Given the description of an element on the screen output the (x, y) to click on. 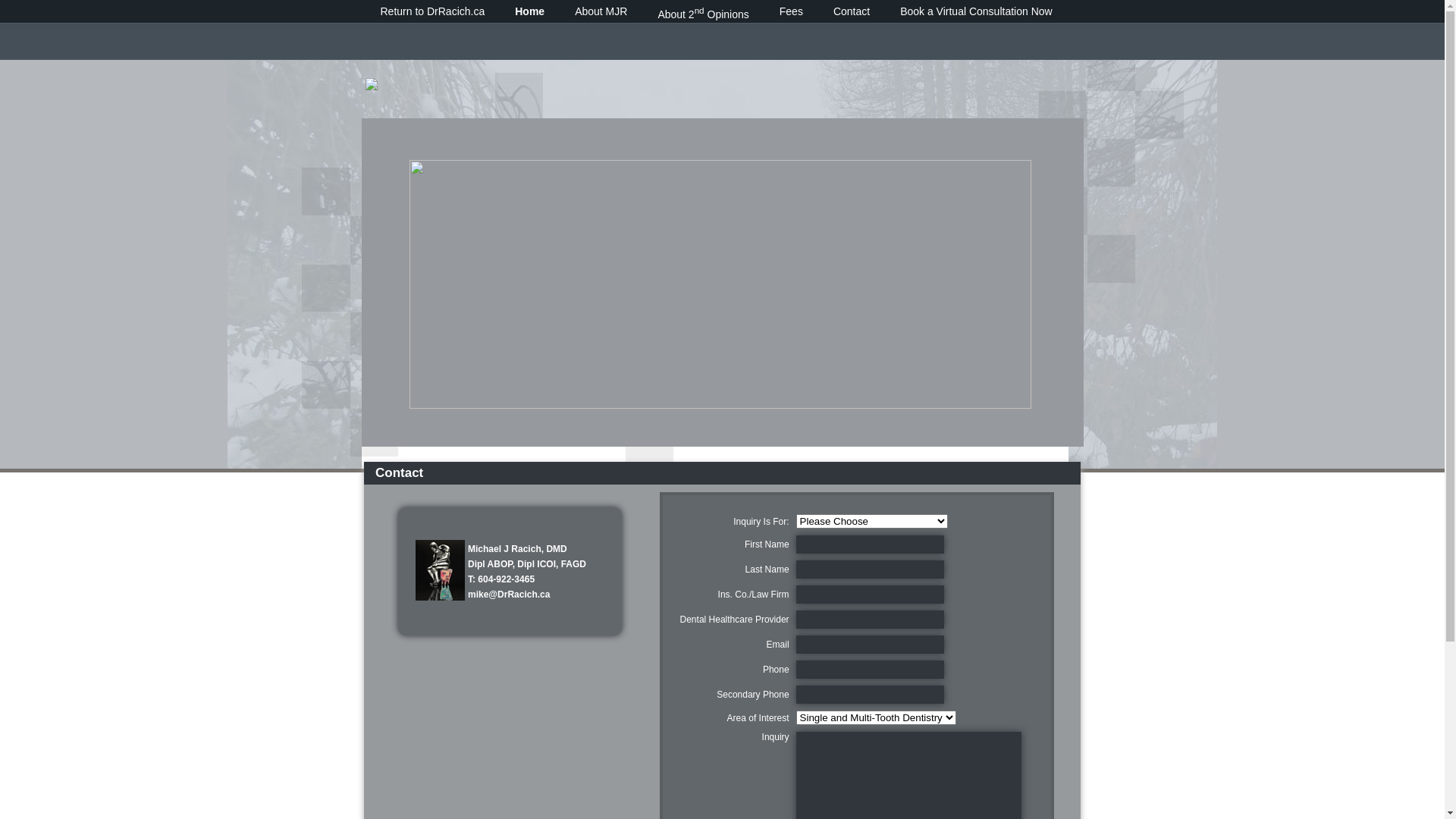
mike@DrRacich.ca Element type: text (508, 593)
Return to DrRacich.ca Element type: text (432, 11)
About MJR Element type: text (600, 11)
T: 604-922-3465 Element type: text (500, 578)
Book a Virtual Consultation Now Element type: text (976, 11)
Home Element type: text (529, 11)
About 2nd Opinions Element type: text (702, 12)
Fees Element type: text (791, 11)
Contact Element type: text (851, 11)
